Given the description of an element on the screen output the (x, y) to click on. 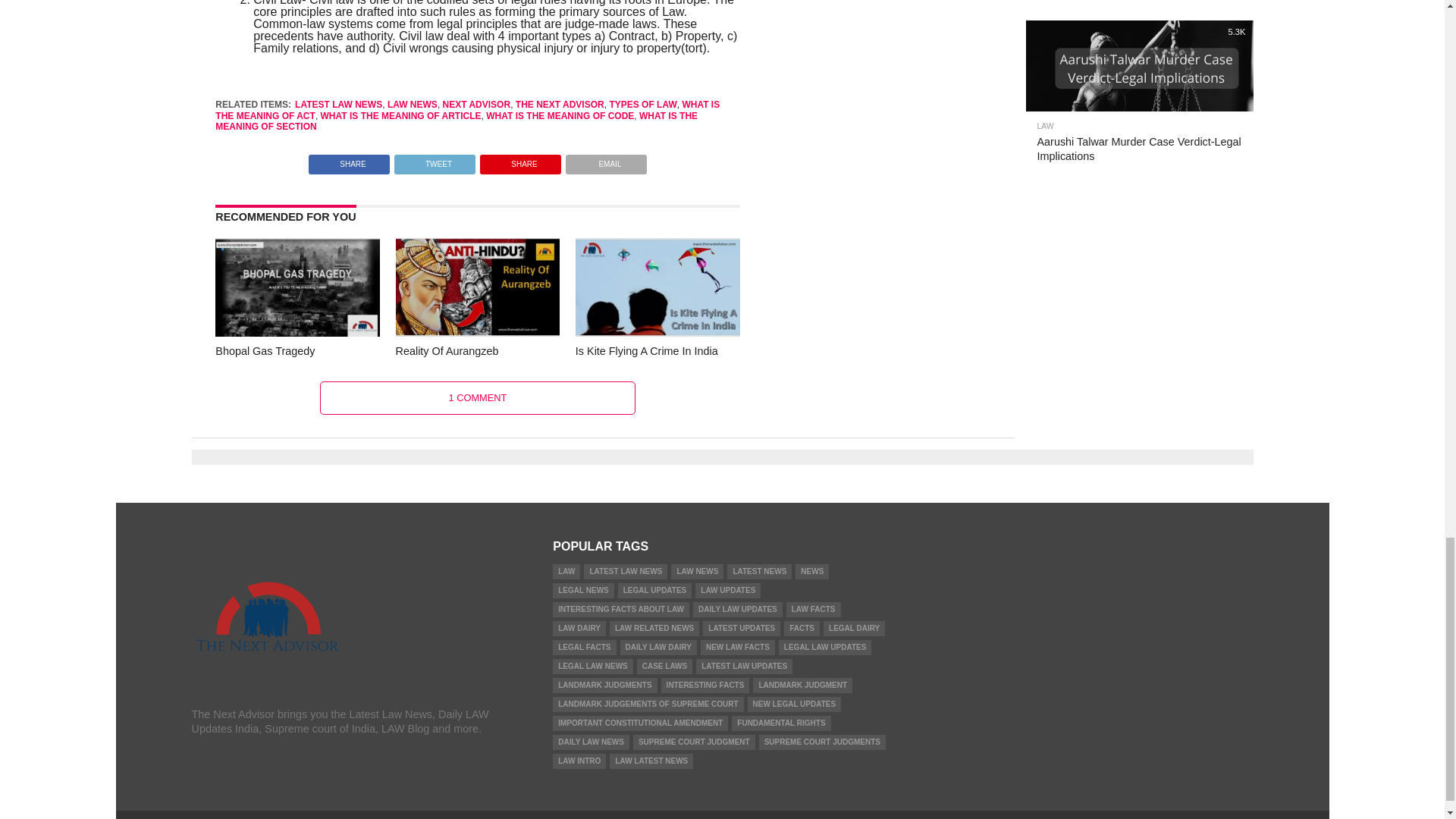
Is Kite Flying A Crime In India (657, 332)
NEXT ADVISOR (476, 104)
WHAT IS THE MEANING OF SECTION (456, 120)
LATEST LAW NEWS (338, 104)
Share on Facebook (349, 160)
Pin This Post (520, 160)
LAW NEWS (412, 104)
TYPES OF LAW (642, 104)
Bhopal Gas Tragedy (297, 332)
SHARE (349, 160)
Tweet This Post (434, 160)
TWEET (434, 160)
WHAT IS THE MEANING OF ACT (467, 109)
Reality Of Aurangzeb (478, 332)
THE NEXT ADVISOR (559, 104)
